Given the description of an element on the screen output the (x, y) to click on. 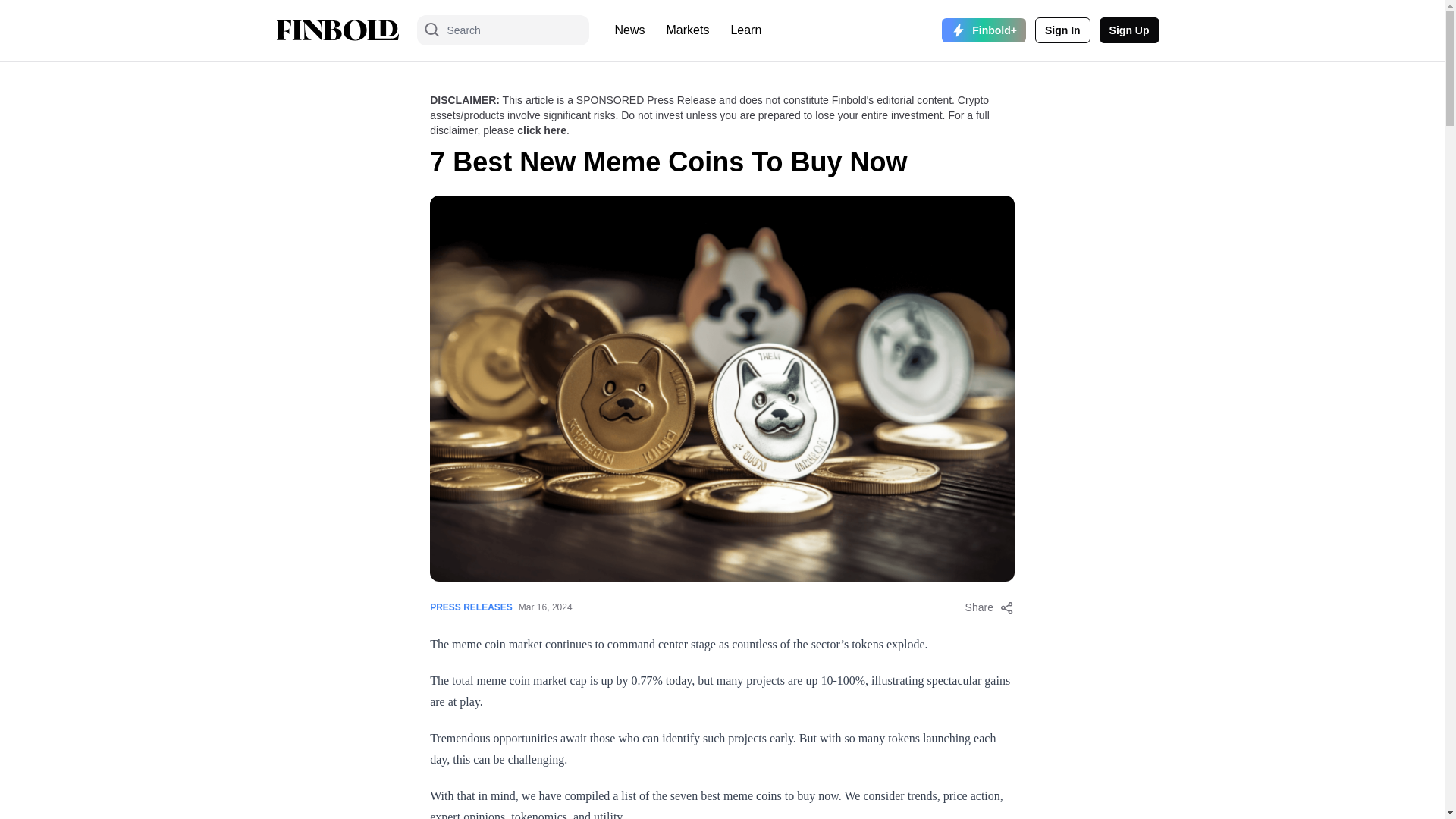
News (629, 29)
Account (1128, 30)
Markets (688, 29)
Sign Up (1128, 30)
Finbold (336, 29)
Account (1062, 30)
PRESS RELEASES (470, 607)
click here (541, 130)
Share (989, 607)
Learn (745, 29)
Sign In (1062, 30)
